Given the description of an element on the screen output the (x, y) to click on. 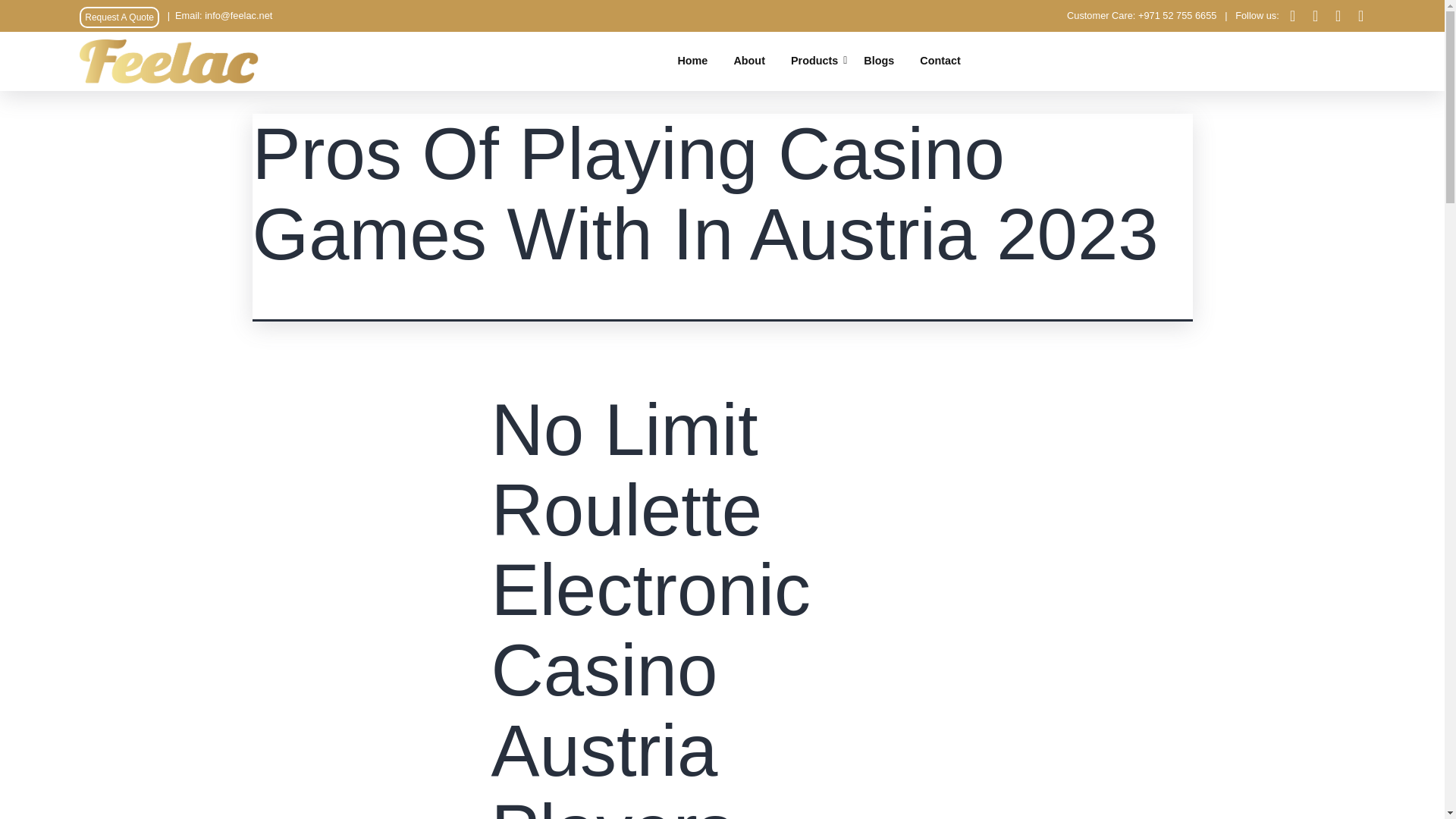
Home (692, 61)
Products (814, 61)
Contact (940, 61)
Blogs (879, 61)
About (749, 61)
Request A Quote (119, 16)
